Given the description of an element on the screen output the (x, y) to click on. 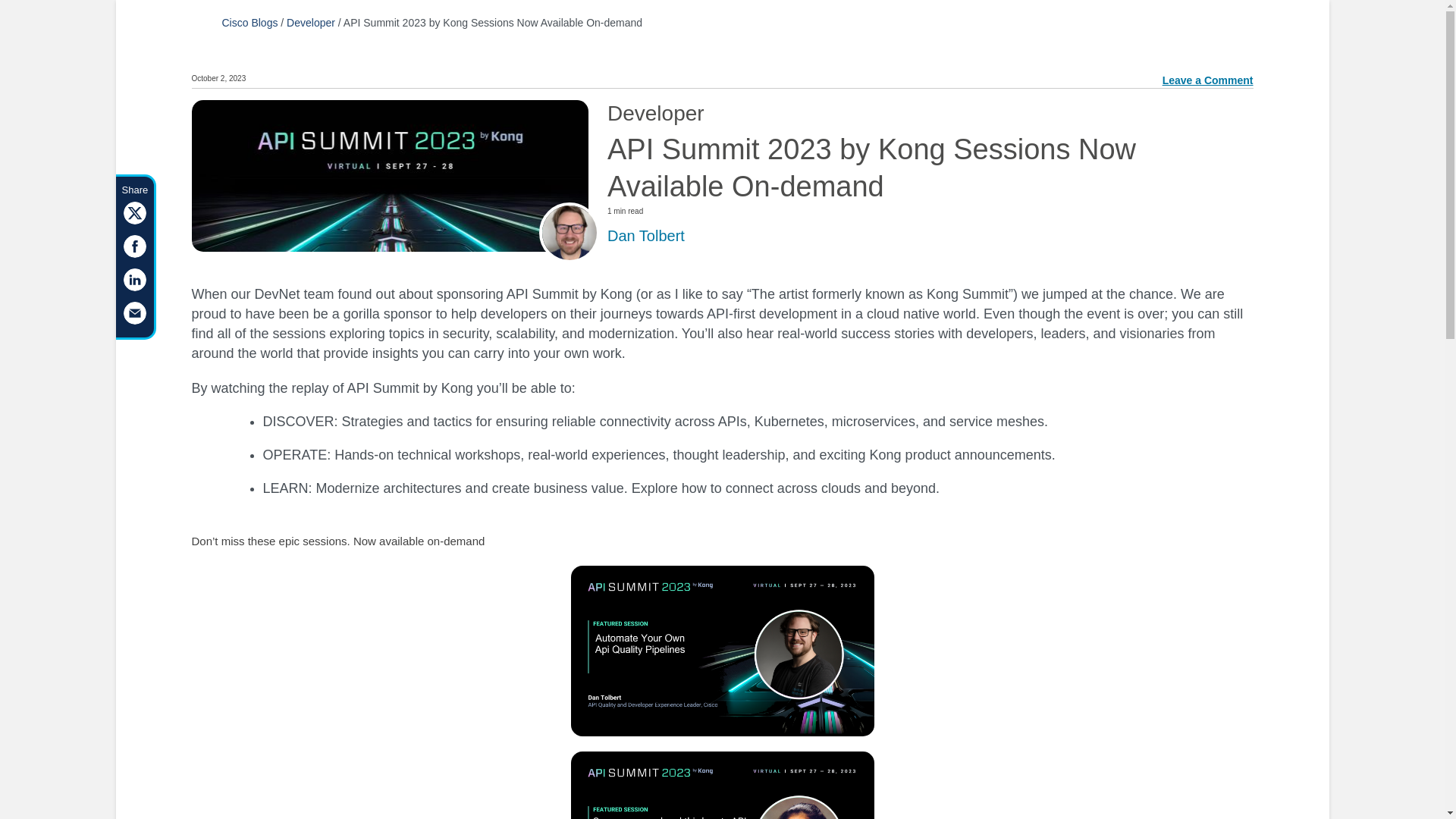
Dan Tolbert (645, 235)
Posts by Dan Tolbert (645, 235)
Developer (310, 22)
Cisco Blogs (249, 22)
